Given the description of an element on the screen output the (x, y) to click on. 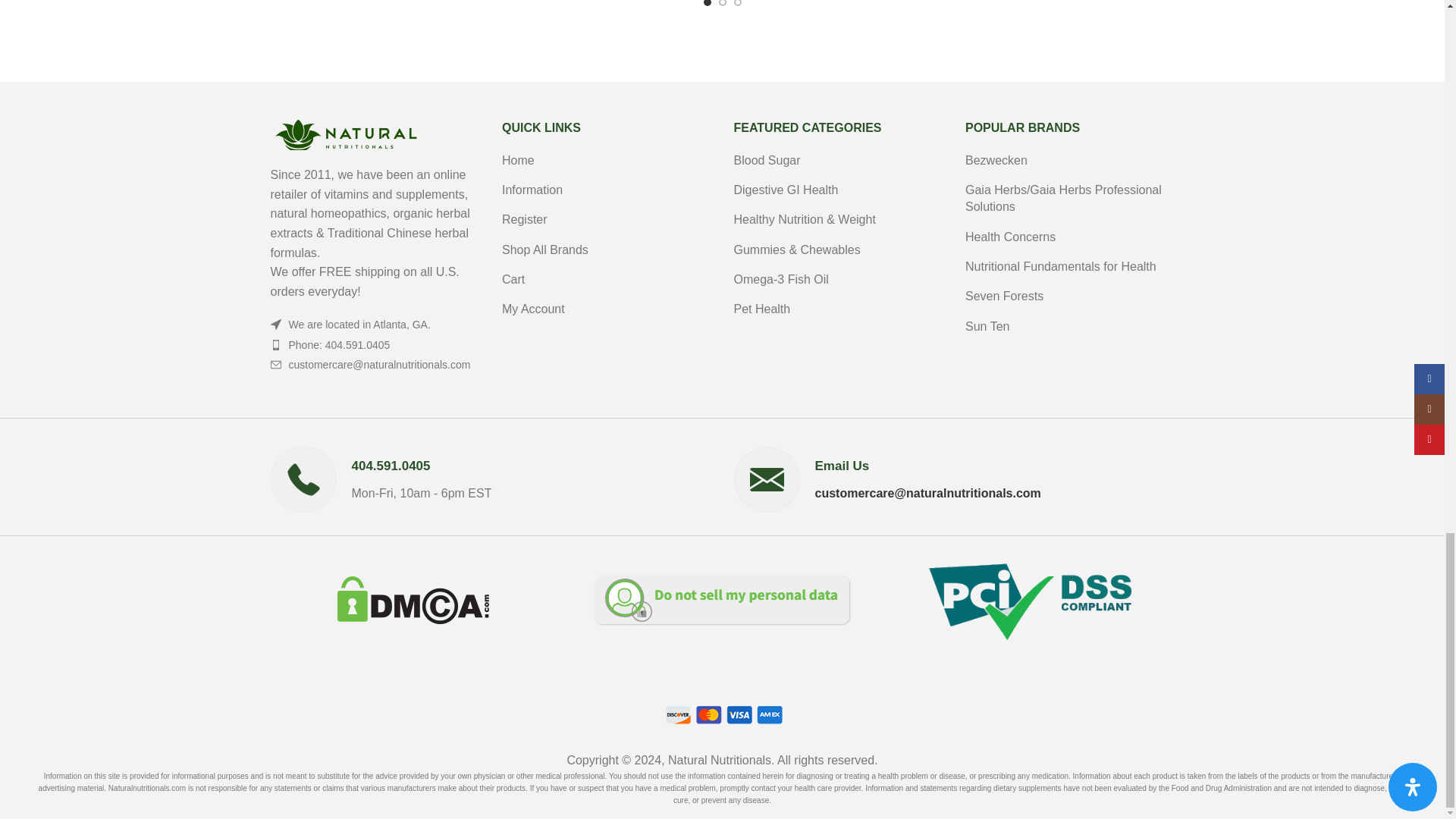
wd-cursor-dark (275, 324)
wd-phone-dark (275, 344)
